Given the description of an element on the screen output the (x, y) to click on. 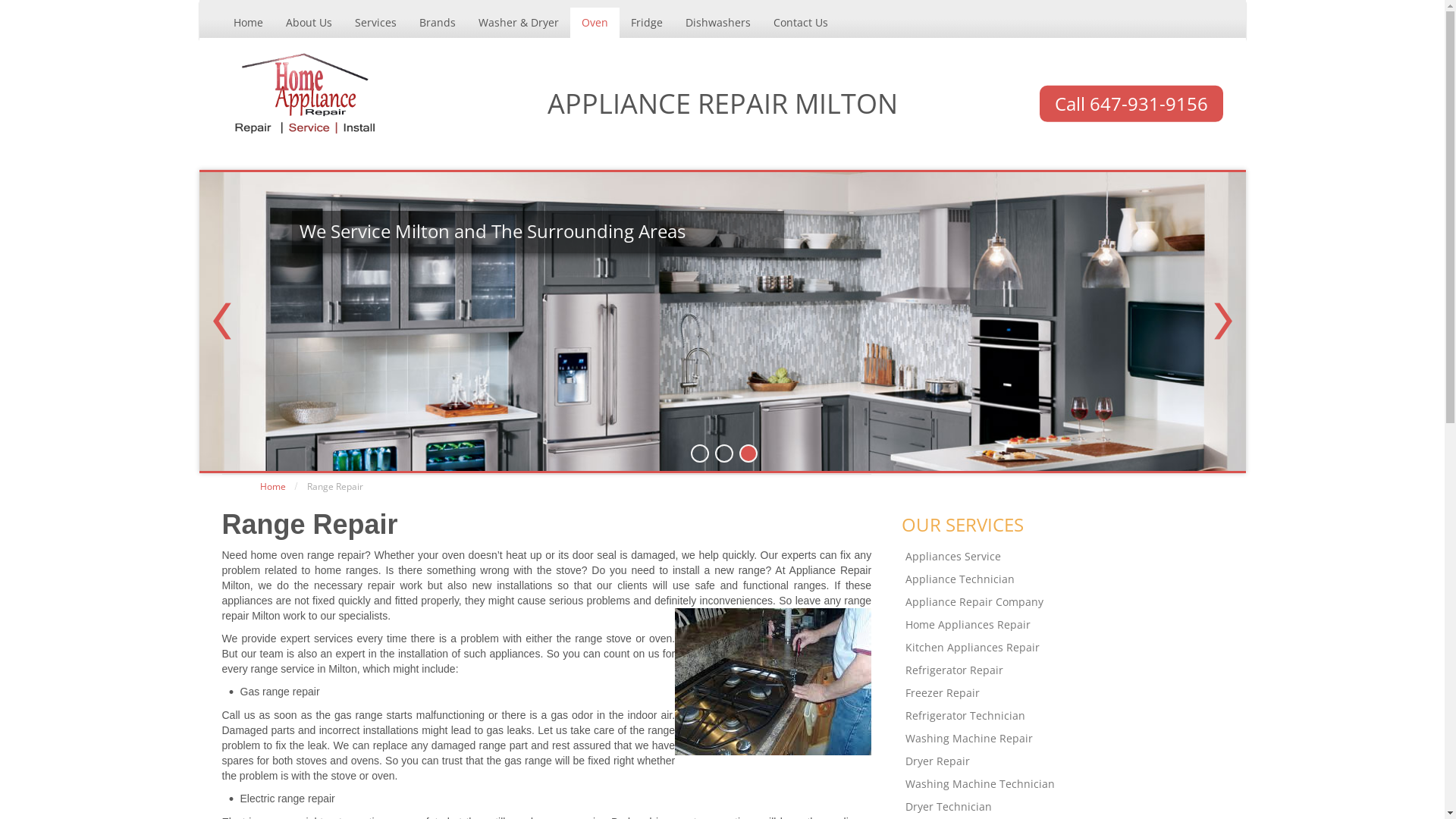
Freezer Repair Element type: text (1073, 692)
Washing Machine Technician Element type: text (1073, 783)
Dryer Repair Element type: text (1073, 760)
Refrigerator Technician Element type: text (1073, 715)
Washing Machine Repair Element type: text (1073, 738)
Refrigerator Repair Element type: text (1073, 669)
Dryer Technician Element type: text (1073, 806)
About Us Element type: text (308, 22)
Dishwashers Element type: text (717, 22)
Contact Us Element type: text (799, 22)
Home Element type: text (272, 486)
Oven Element type: text (594, 22)
Kitchen Appliances Repair Element type: text (1073, 647)
Appliances Service Element type: text (1073, 556)
Appliance Repair Company Element type: text (1073, 601)
Brands Element type: text (437, 22)
Washer & Dryer Element type: text (518, 22)
Home Appliances Repair Element type: text (1073, 624)
Appliance Technician Element type: text (1073, 578)
Services Element type: text (374, 22)
Call 647-931-9156 Element type: text (1130, 103)
Home Element type: text (247, 22)
Fridge Element type: text (645, 22)
